Given the description of an element on the screen output the (x, y) to click on. 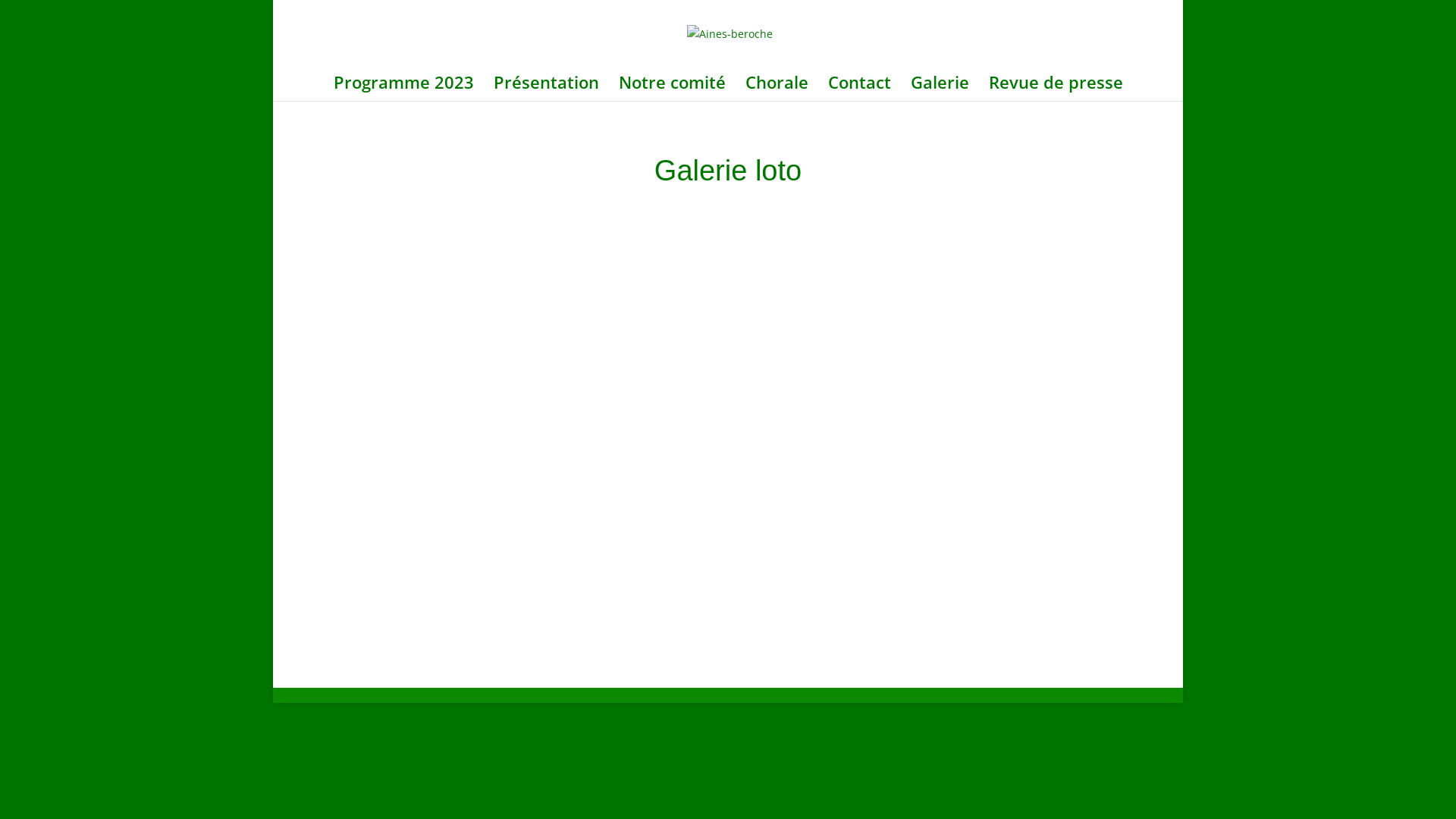
Revue de presse Element type: text (1055, 88)
Programme 2023 Element type: text (403, 88)
Chorale Element type: text (775, 88)
Contact Element type: text (859, 88)
Galerie Element type: text (939, 88)
